Given the description of an element on the screen output the (x, y) to click on. 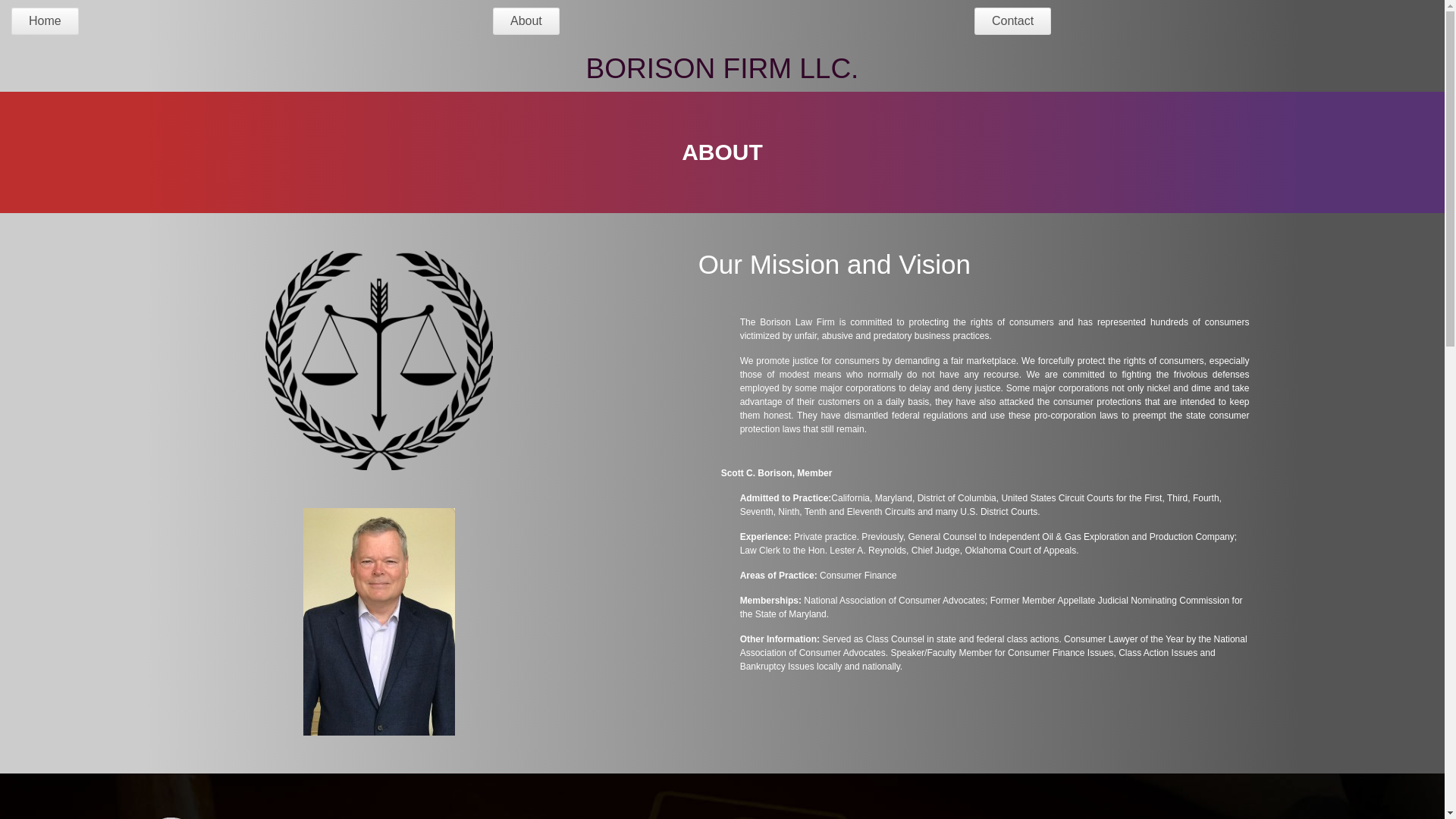
Home (44, 21)
BORISON FIRM LLC. (722, 68)
scb (378, 621)
About (526, 21)
Contact (1012, 21)
